Given the description of an element on the screen output the (x, y) to click on. 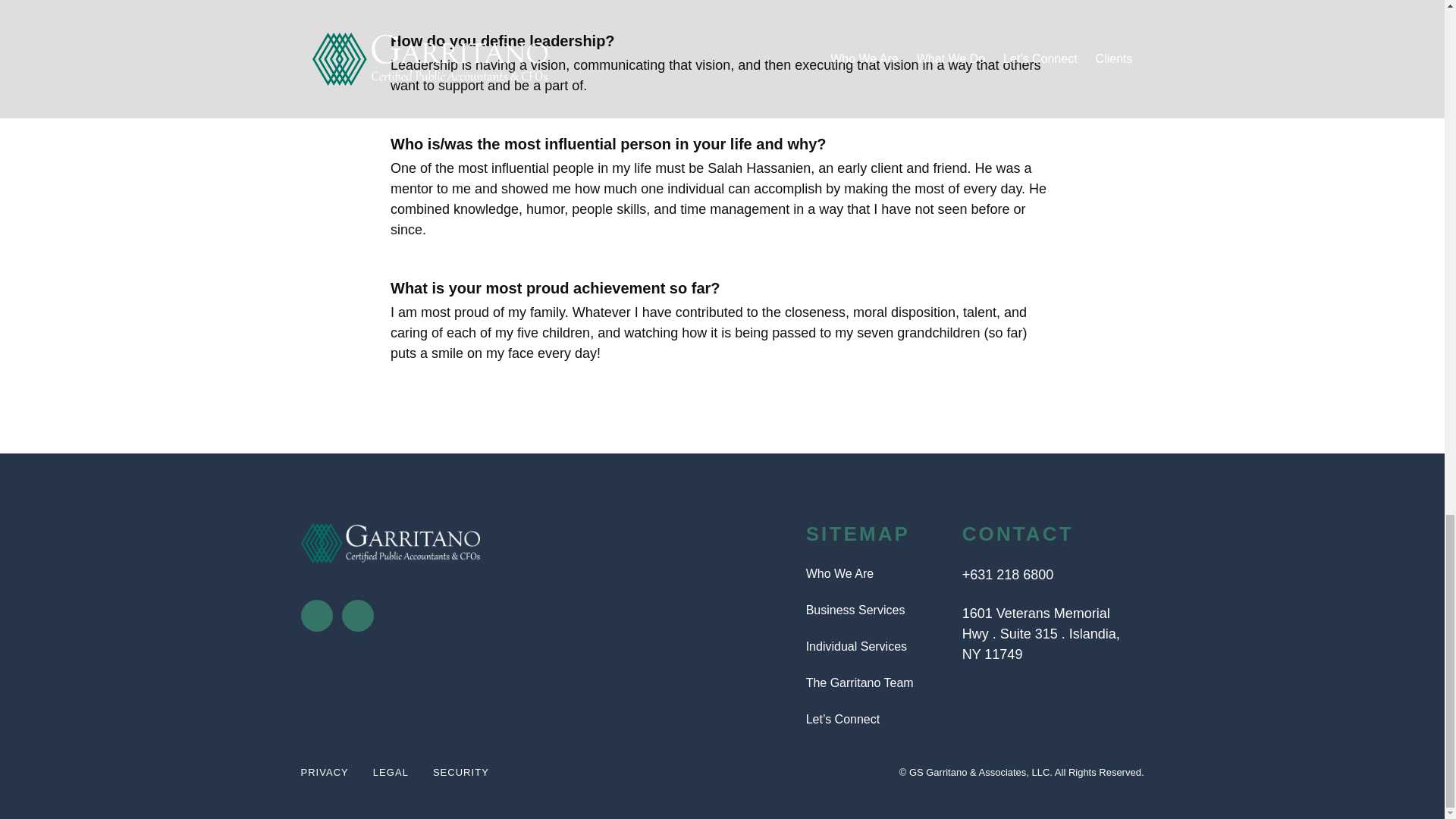
Who We Are (872, 574)
Individual Services (872, 647)
The Garritano Team (872, 683)
Business Services (872, 610)
